Given the description of an element on the screen output the (x, y) to click on. 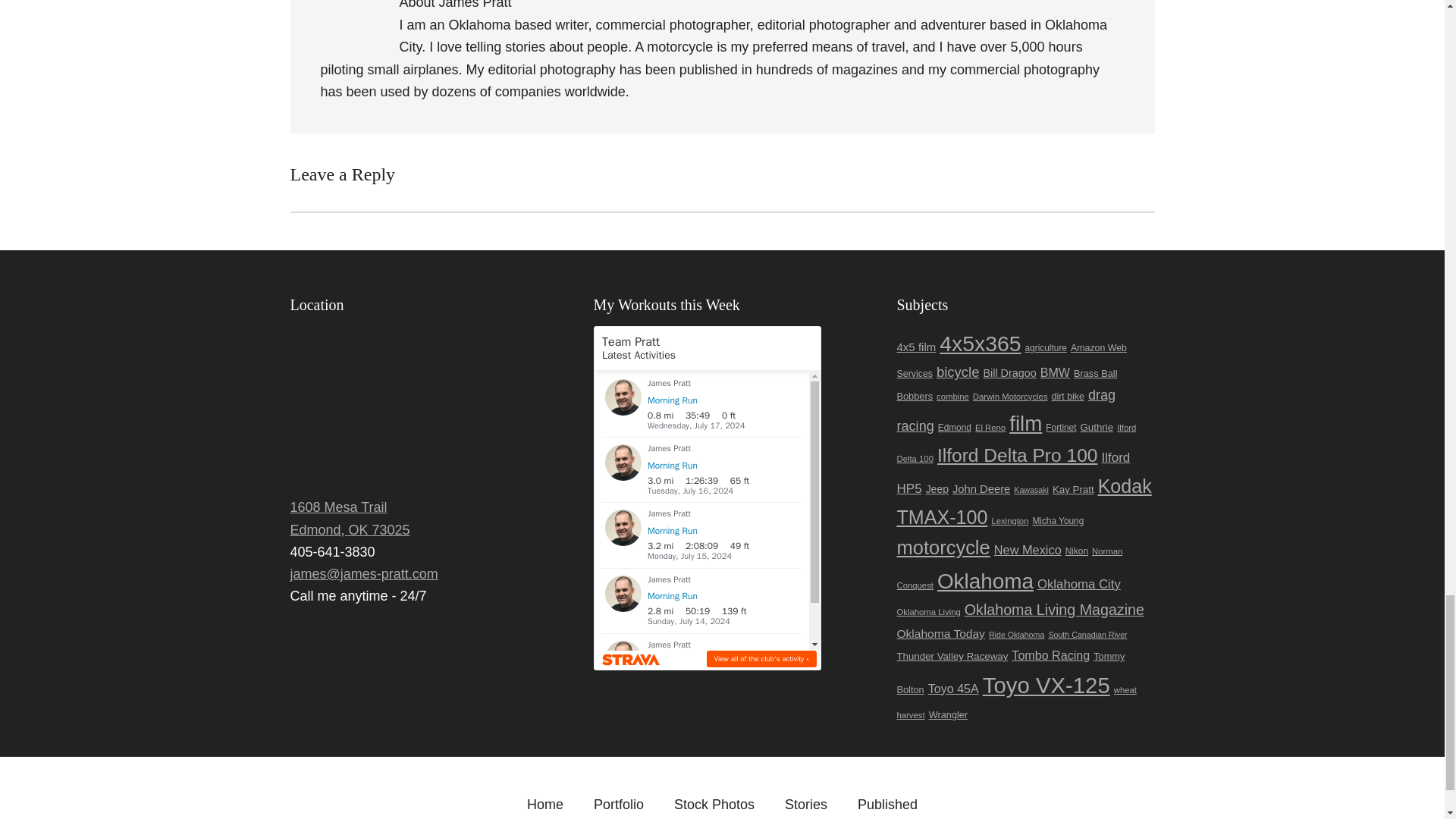
Google Map Embed (418, 407)
